Given the description of an element on the screen output the (x, y) to click on. 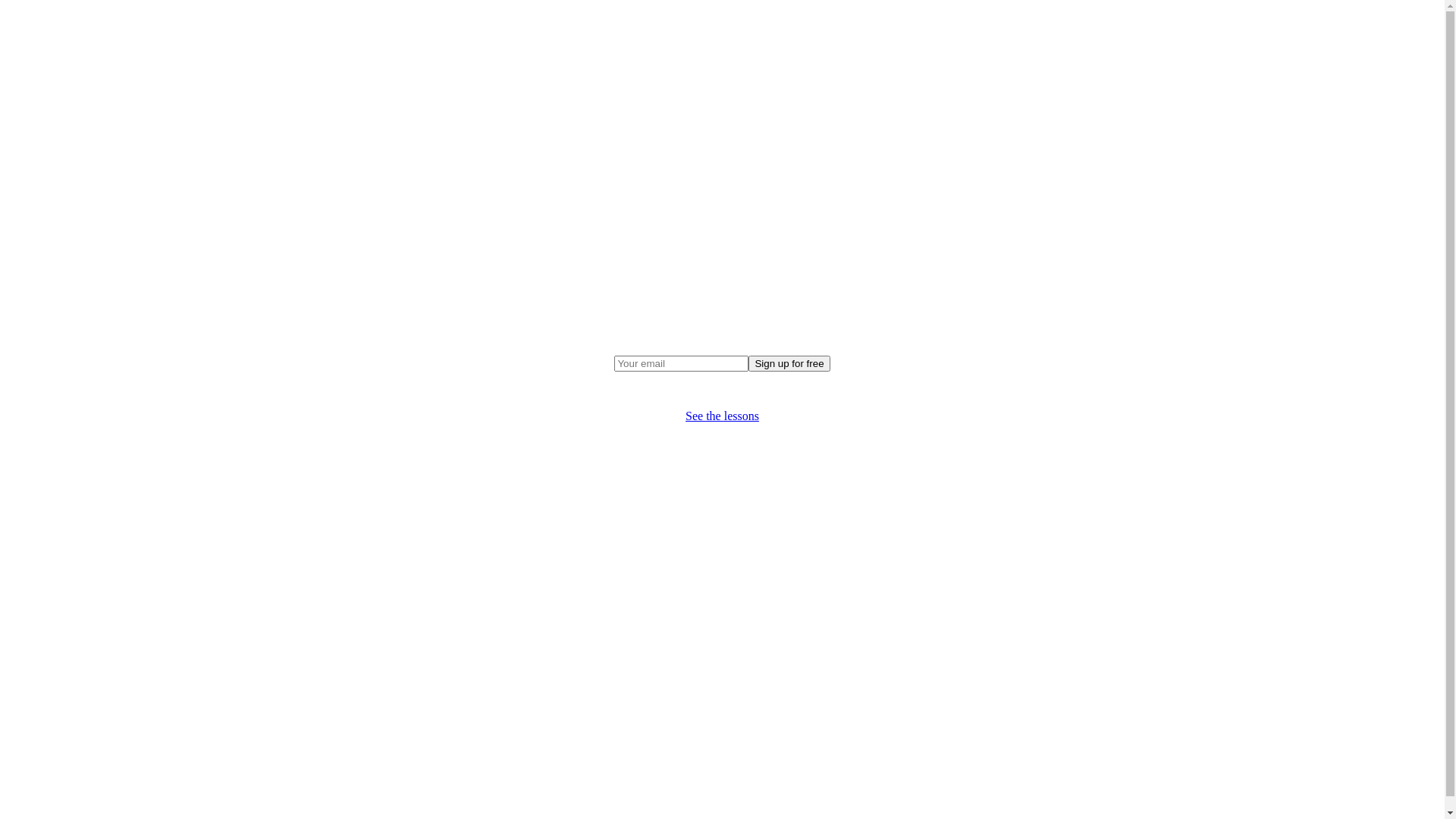
Sign up for free Element type: text (788, 363)
See the lessons Element type: text (722, 415)
